Given the description of an element on the screen output the (x, y) to click on. 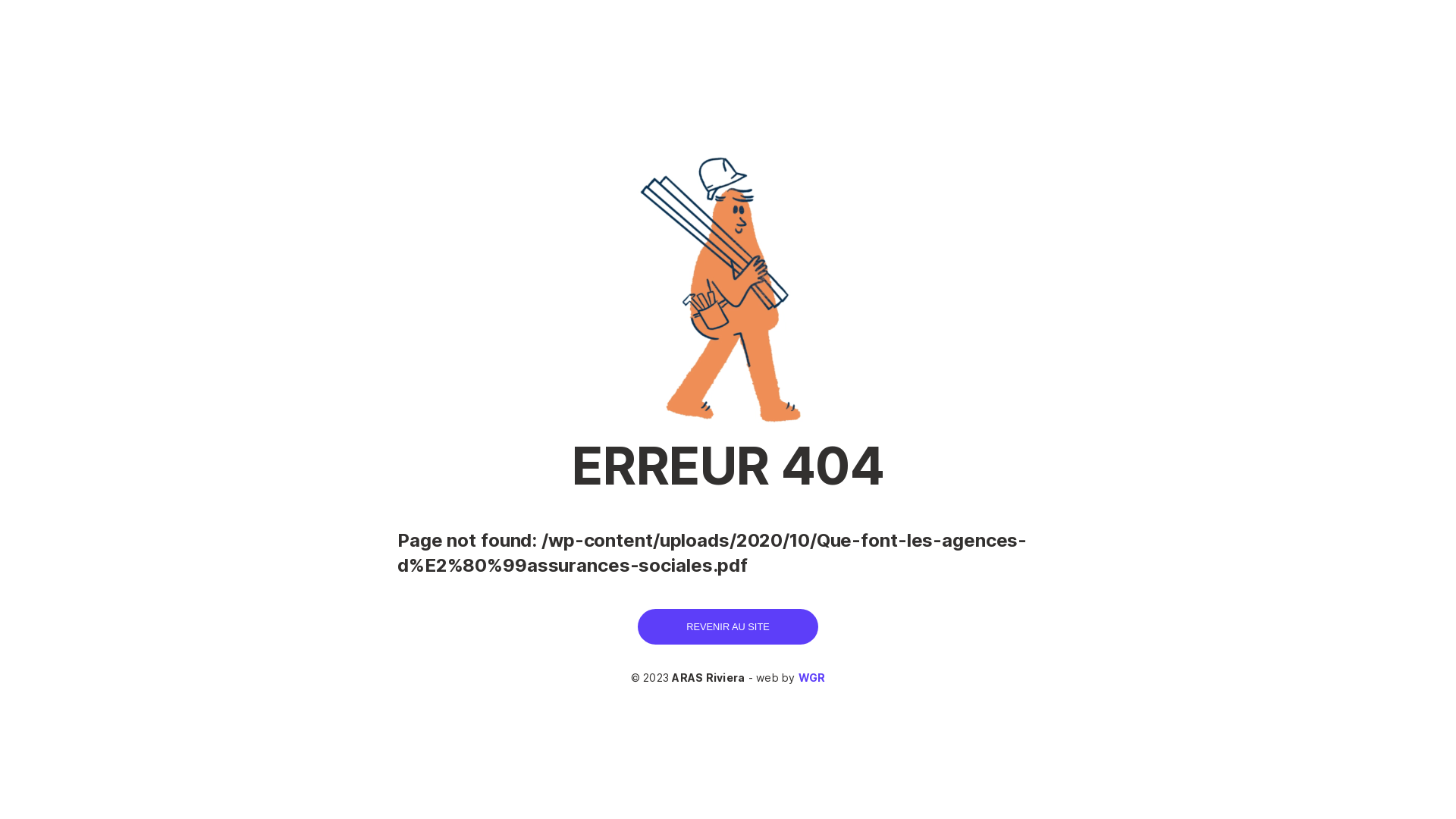
WGR Element type: text (811, 677)
REVENIR AU SITE Element type: text (727, 626)
